Given the description of an element on the screen output the (x, y) to click on. 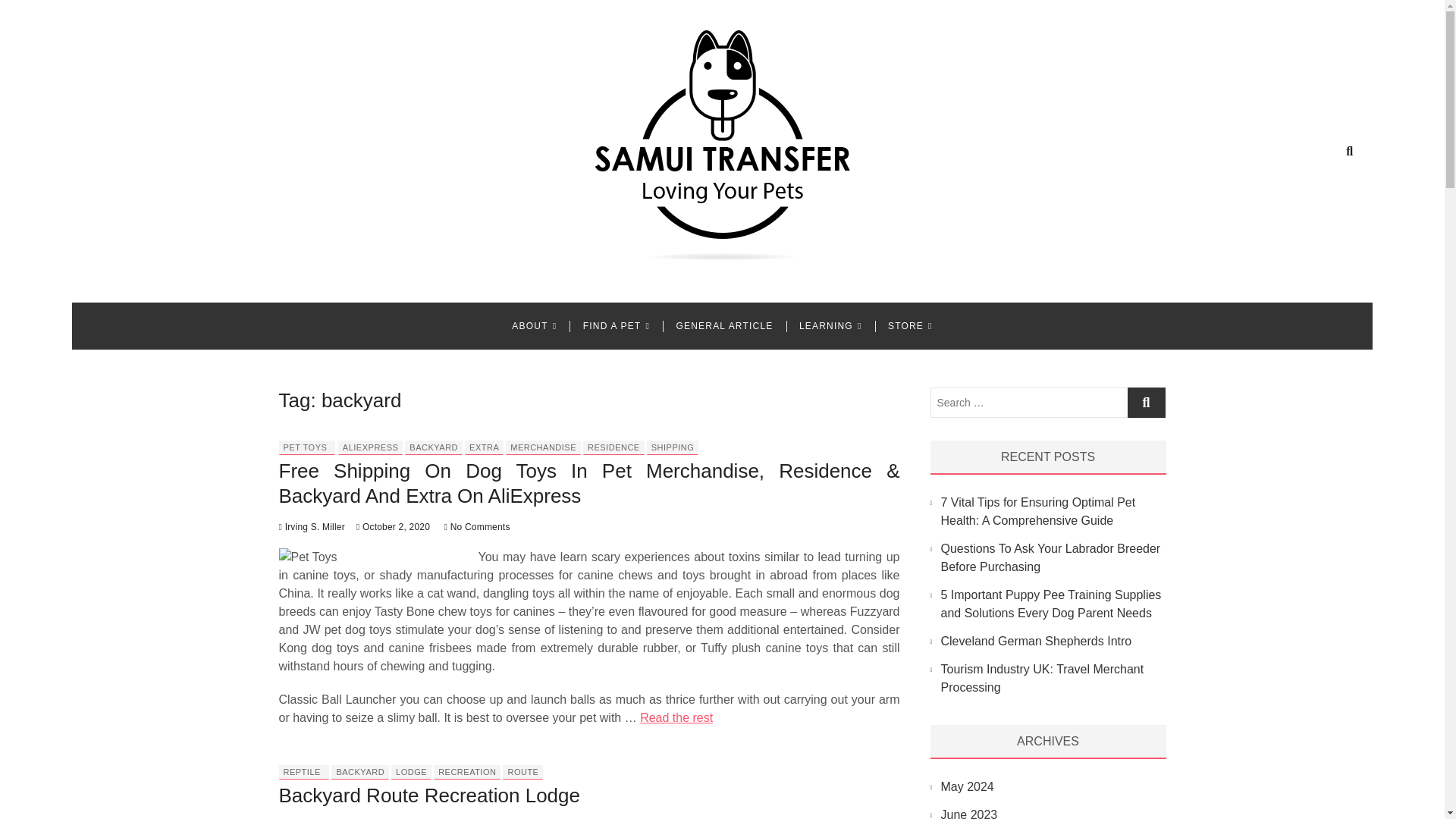
Backyard Route Recreation Lodge (429, 794)
PET TOYS (304, 447)
Samui Transfer (394, 282)
ABOUT (533, 325)
GENERAL ARTICLE (723, 325)
ALIEXPRESS (370, 447)
October 2, 2020 (392, 526)
STORE (909, 325)
Samui Transfer (394, 282)
RESIDENCE (614, 447)
SHIPPING (672, 447)
BACKYARD (433, 447)
LEARNING (830, 325)
EXTRA (483, 447)
